Given the description of an element on the screen output the (x, y) to click on. 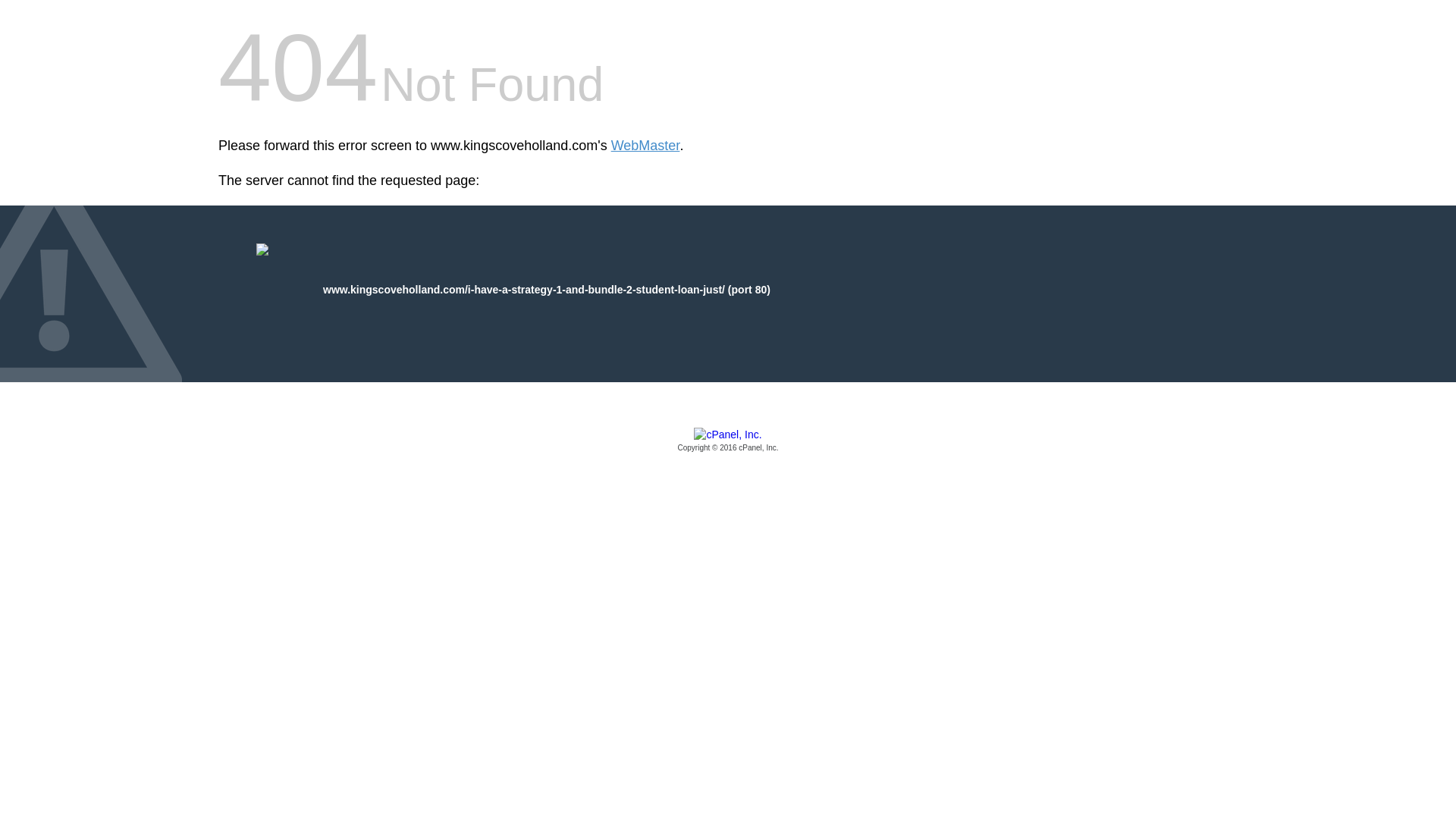
cPanel, Inc. (727, 440)
WebMaster (645, 145)
